Given the description of an element on the screen output the (x, y) to click on. 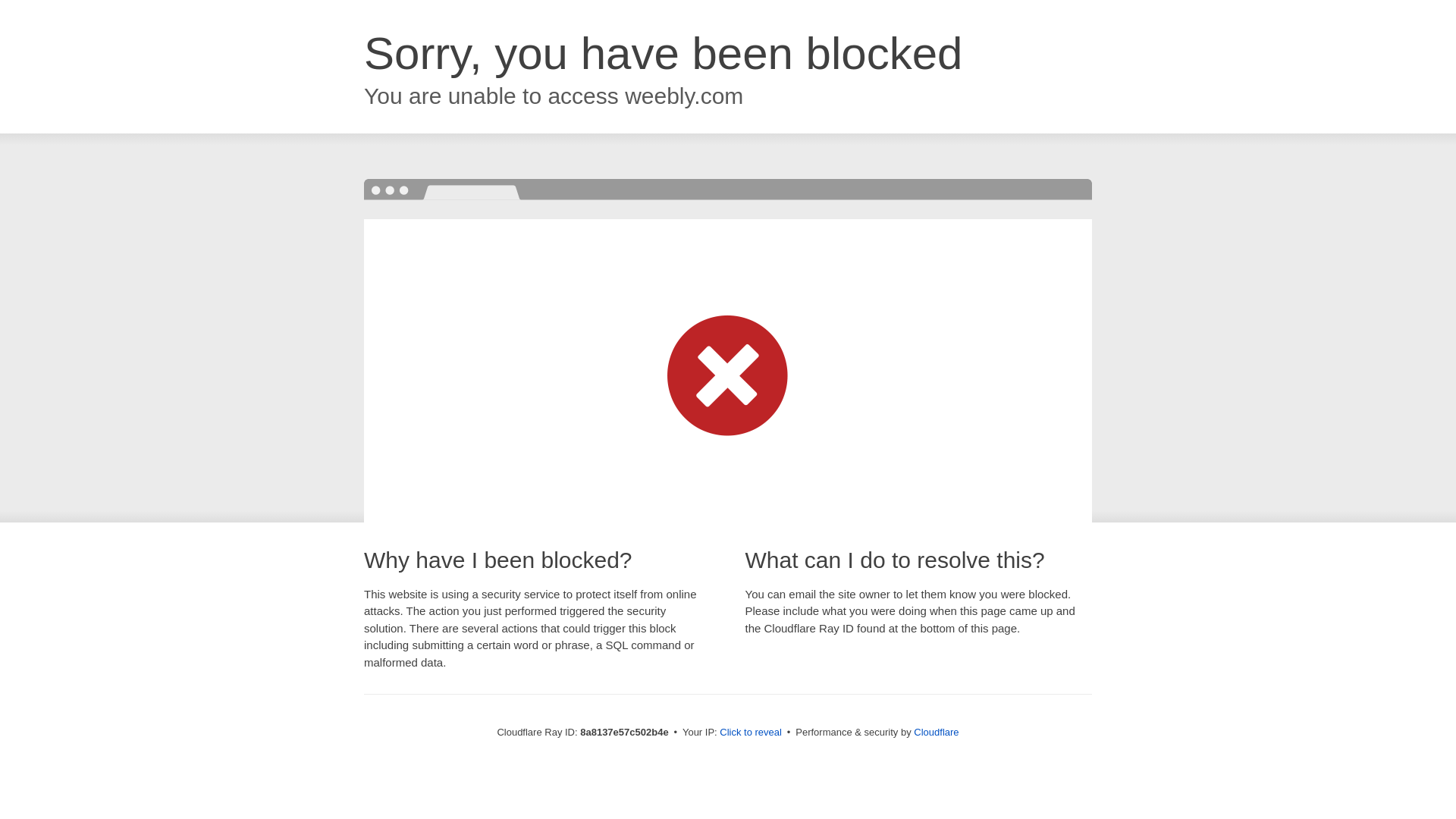
Click to reveal (750, 732)
Cloudflare (936, 731)
